Given the description of an element on the screen output the (x, y) to click on. 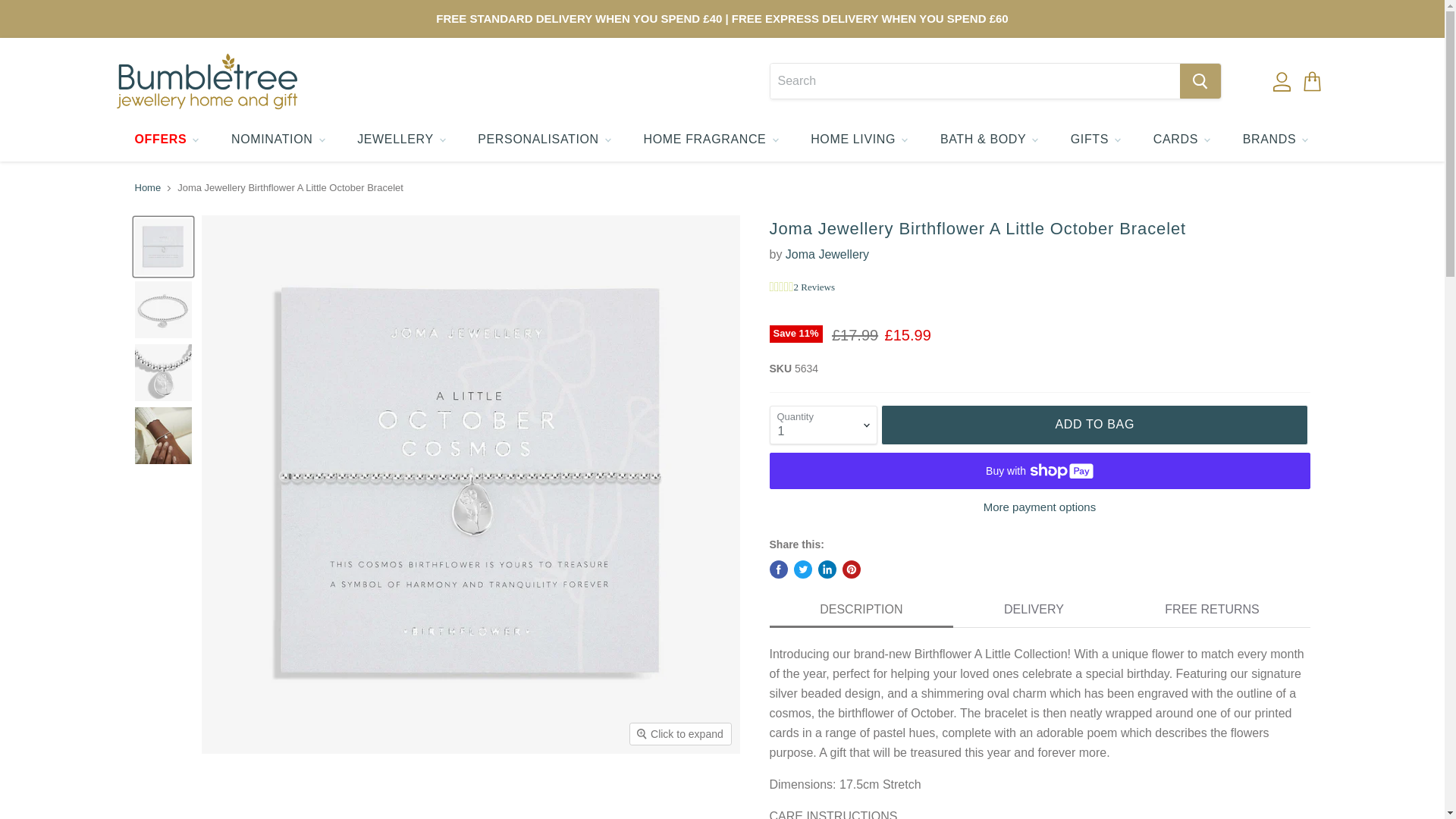
OFFERS (165, 139)
View cart (1309, 80)
Joma Jewellery (827, 254)
